Given the description of an element on the screen output the (x, y) to click on. 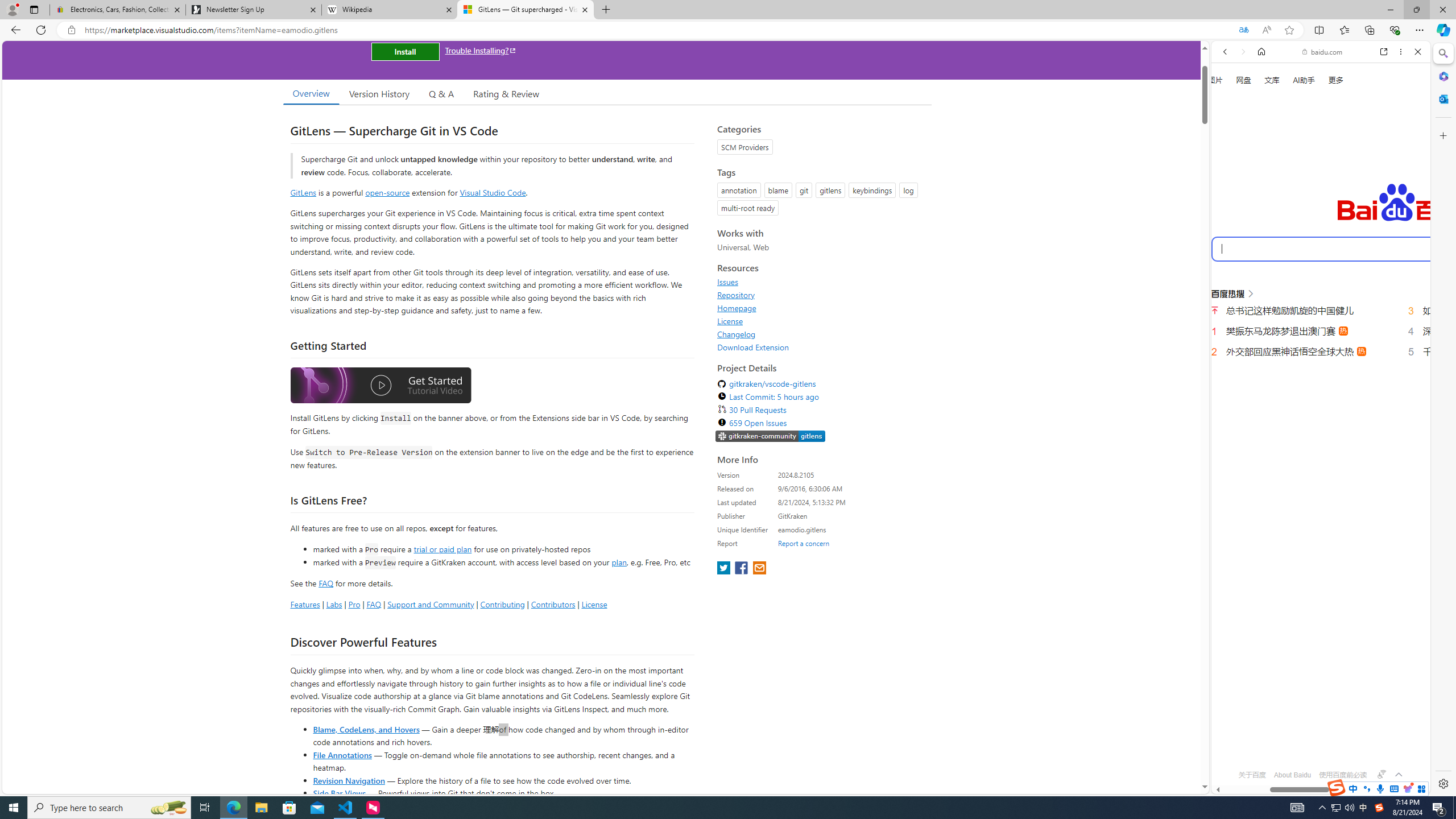
WEB   (1230, 192)
Revision Navigation (348, 780)
Watch the GitLens Getting Started video (380, 385)
Version History (379, 92)
Homepage (737, 307)
Report a concern (803, 542)
More options (1401, 51)
Actions for this site (1381, 514)
